Given the description of an element on the screen output the (x, y) to click on. 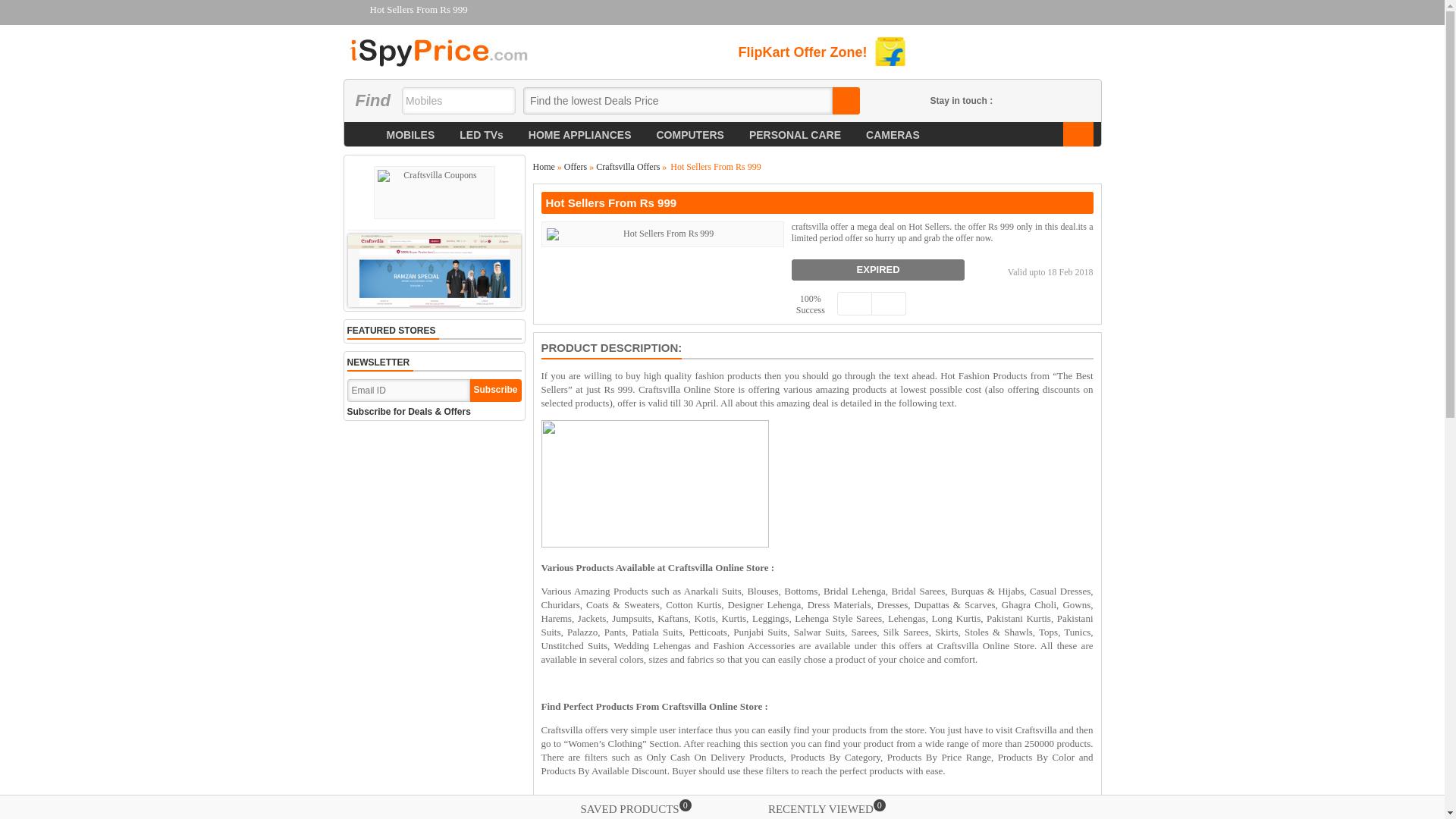
Google Plus (1057, 100)
Twitter (1033, 100)
Pinterest (1080, 100)
FlipKart Offer Zone! (822, 51)
FaceBook (1011, 100)
Craftsvilla (434, 268)
MOBILES (410, 135)
Subscribe (495, 390)
Craftsvilla (433, 192)
iSpyPrice.com - View All Category (1077, 134)
